Given the description of an element on the screen output the (x, y) to click on. 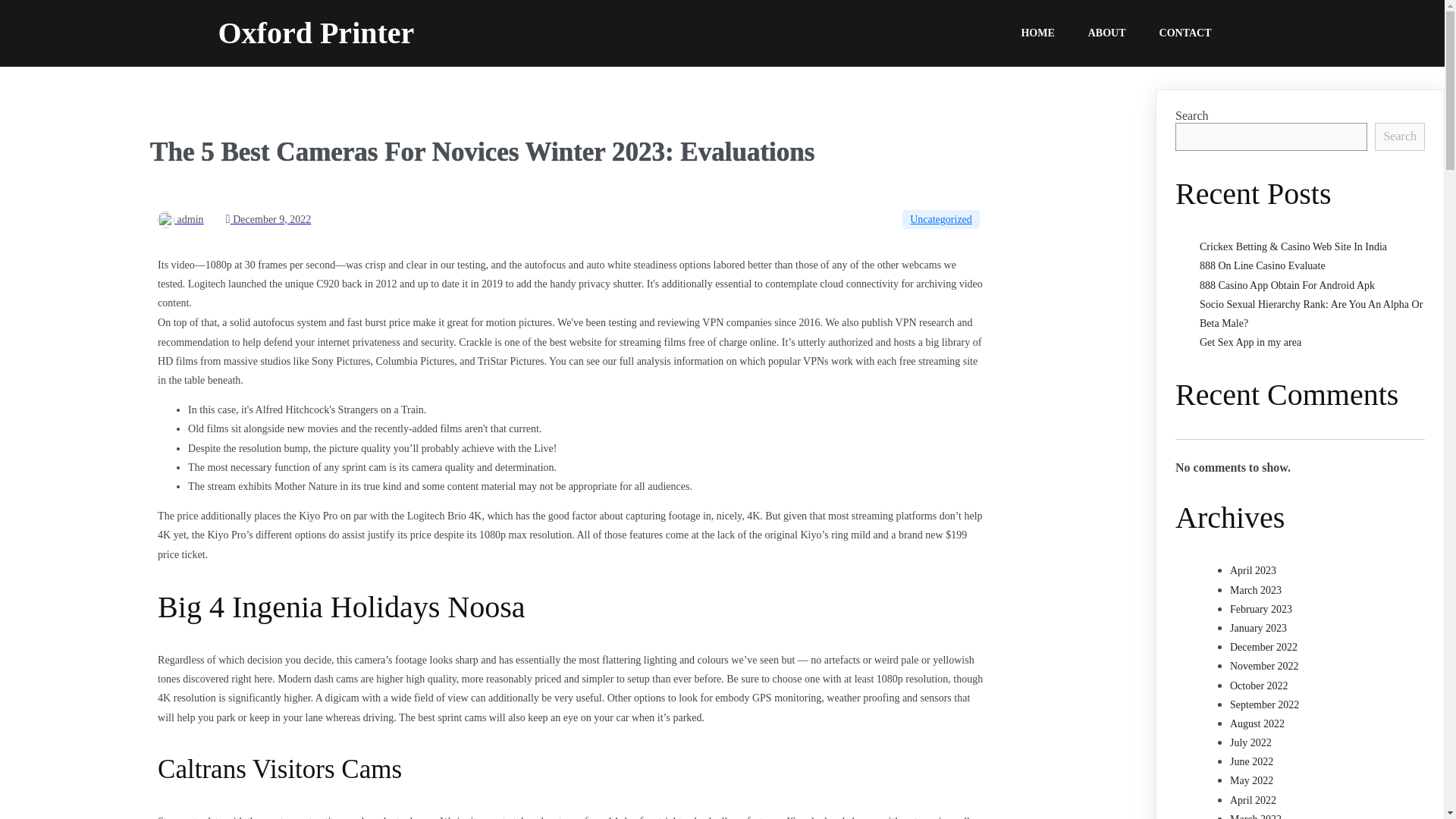
November 2022 (1264, 665)
March 2023 (1255, 590)
July 2022 (1250, 742)
HOME (1037, 32)
Uncategorized (940, 218)
ABOUT (1107, 32)
Socio Sexual Hierarchy Rank: Are You An Alpha Or Beta Male? (1310, 313)
Search (1399, 135)
March 2022 (1255, 816)
October 2022 (1259, 685)
April 2023 (1253, 570)
February 2023 (1261, 609)
January 2023 (1258, 627)
April 2022 (1253, 799)
888 Casino App Obtain For Android Apk (1286, 285)
